Given the description of an element on the screen output the (x, y) to click on. 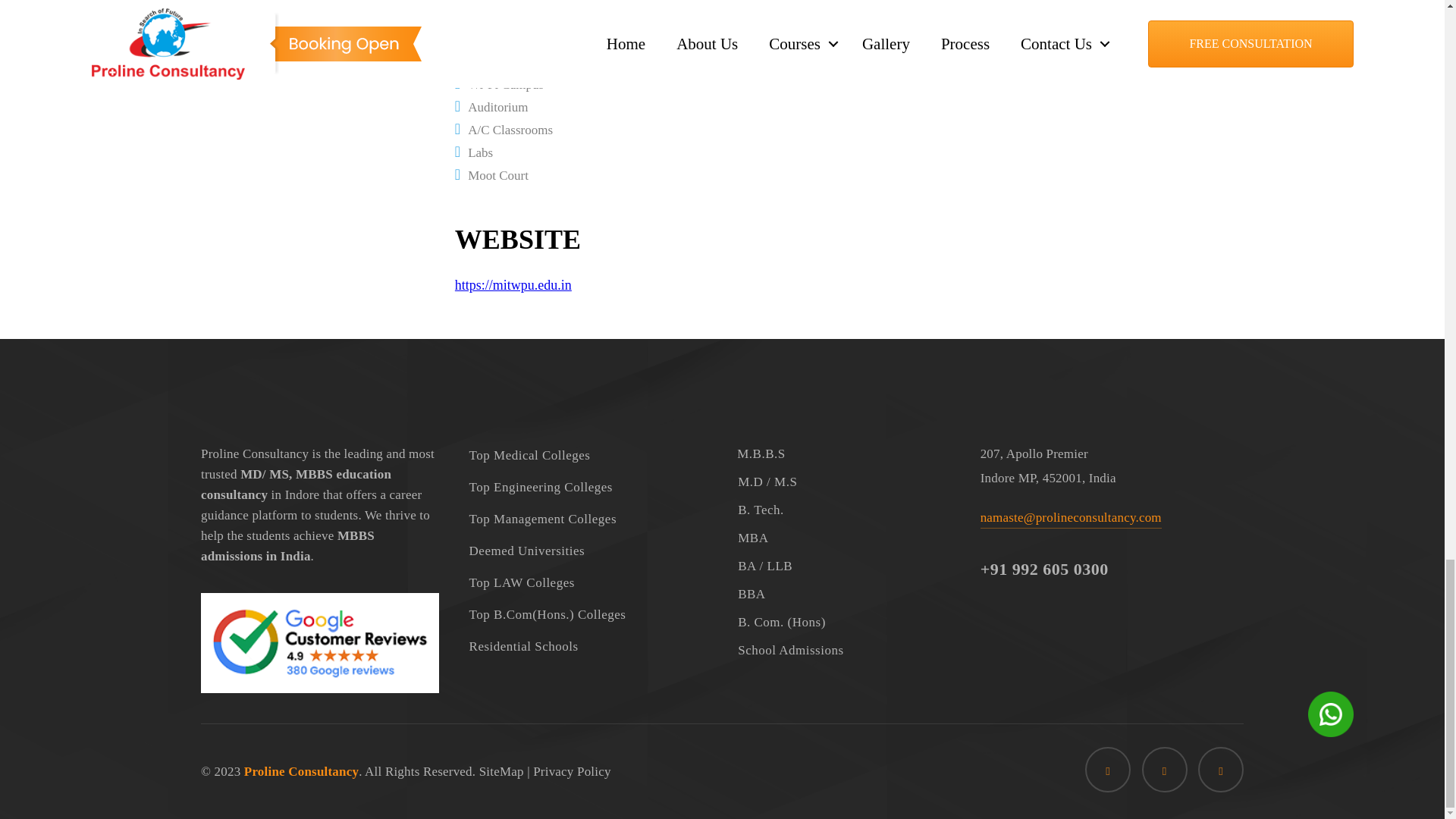
School Admissions (843, 649)
MBA (843, 537)
M.B.B.S (842, 453)
SiteMap (501, 771)
Privacy Policy (571, 771)
B. Tech. (843, 509)
BBA (843, 594)
